Given the description of an element on the screen output the (x, y) to click on. 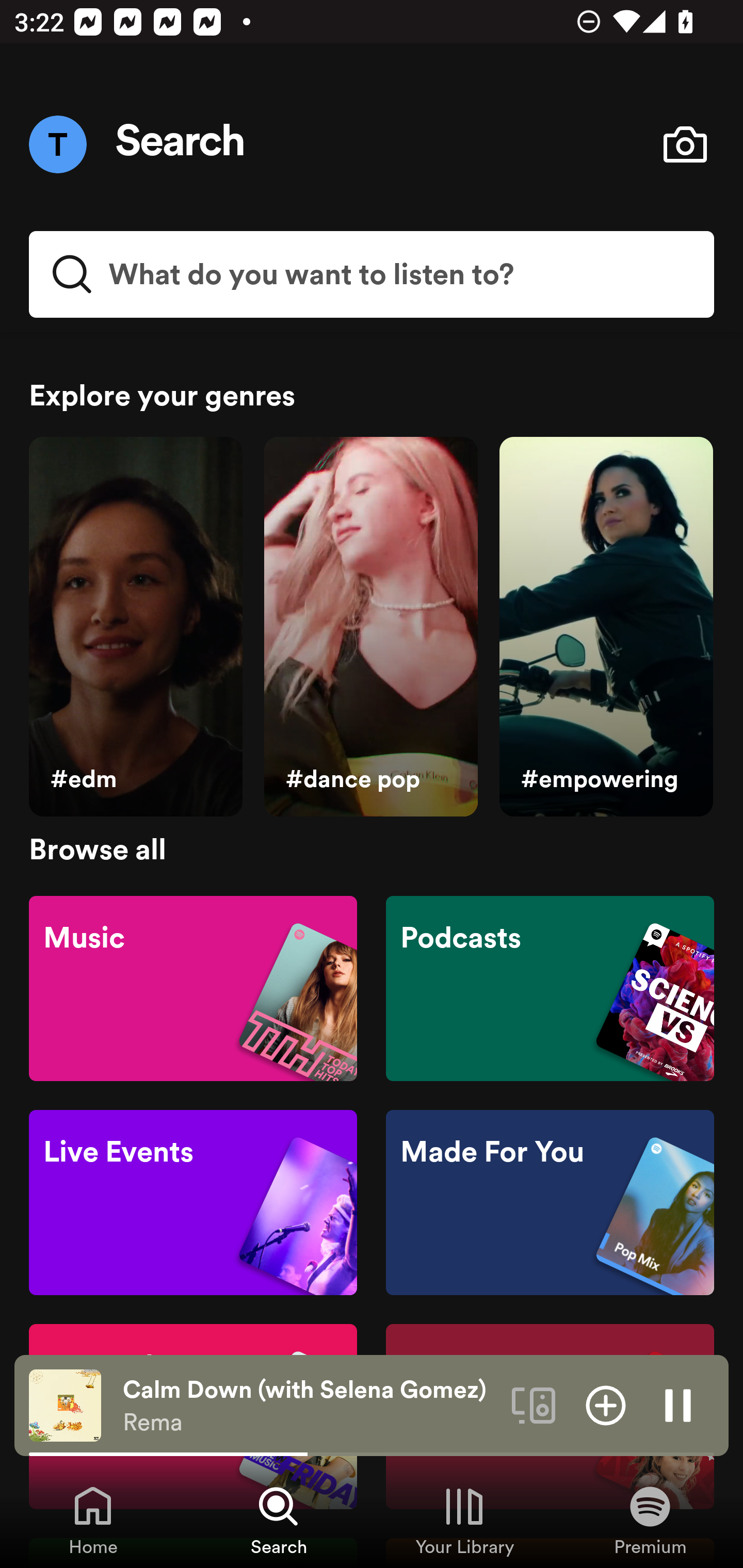
Menu (57, 144)
Open camera (685, 145)
Search (180, 144)
#edm (135, 626)
#dance pop (370, 626)
#empowering (606, 626)
Music (192, 987)
Podcasts (549, 987)
Live Events (192, 1202)
Made For You (549, 1202)
Calm Down (with Selena Gomez) Rema (309, 1405)
The cover art of the currently playing track (64, 1404)
Connect to a device. Opens the devices menu (533, 1404)
Add item (605, 1404)
Pause (677, 1404)
Home, Tab 1 of 4 Home Home (92, 1519)
Search, Tab 2 of 4 Search Search (278, 1519)
Your Library, Tab 3 of 4 Your Library Your Library (464, 1519)
Premium, Tab 4 of 4 Premium Premium (650, 1519)
